Given the description of an element on the screen output the (x, y) to click on. 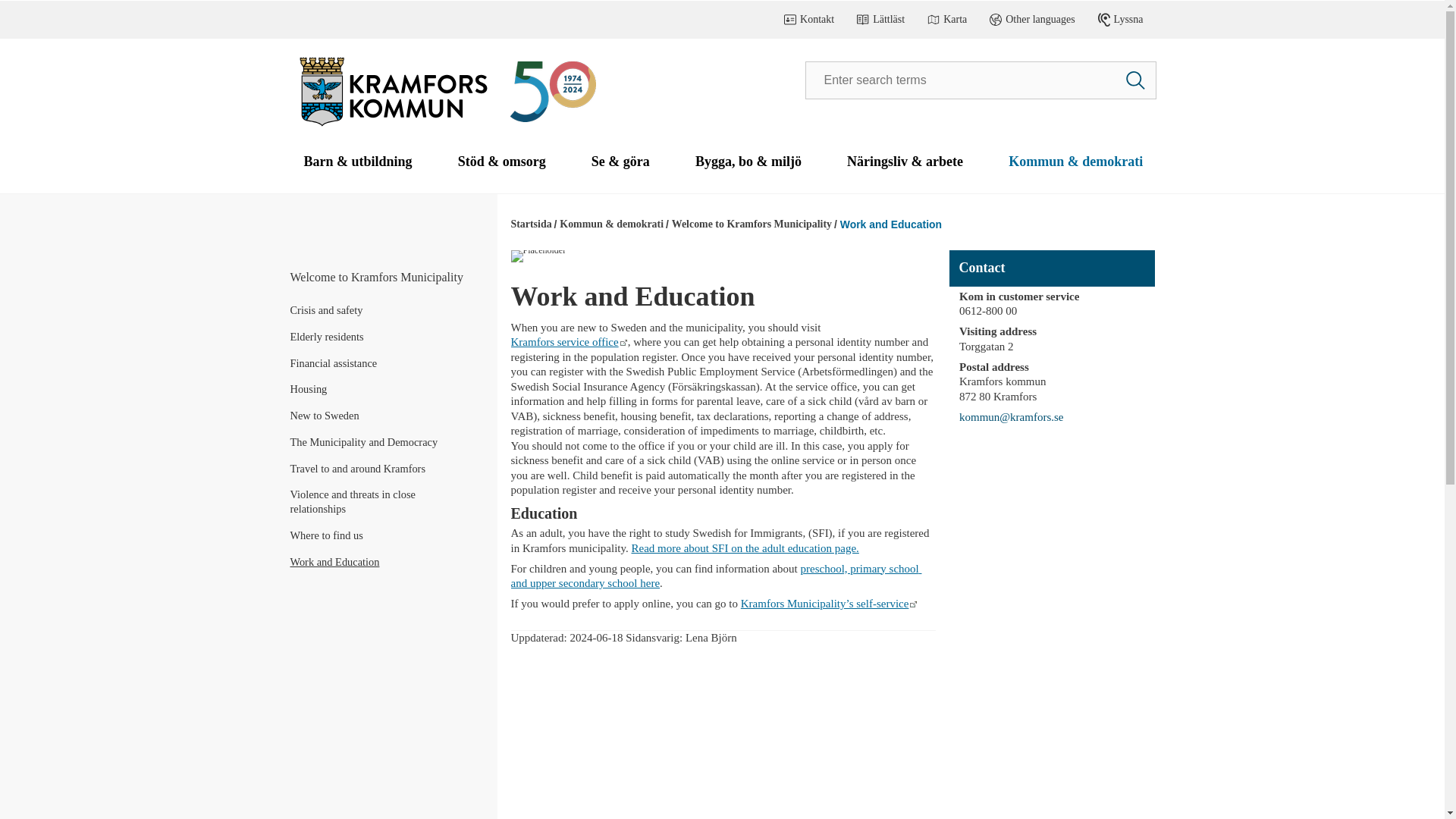
Till startsidan (390, 127)
Karta (946, 19)
Kontakt (809, 19)
Other languages (1032, 19)
Lyssna (1120, 19)
Aktivera talande Webb (1120, 19)
